Given the description of an element on the screen output the (x, y) to click on. 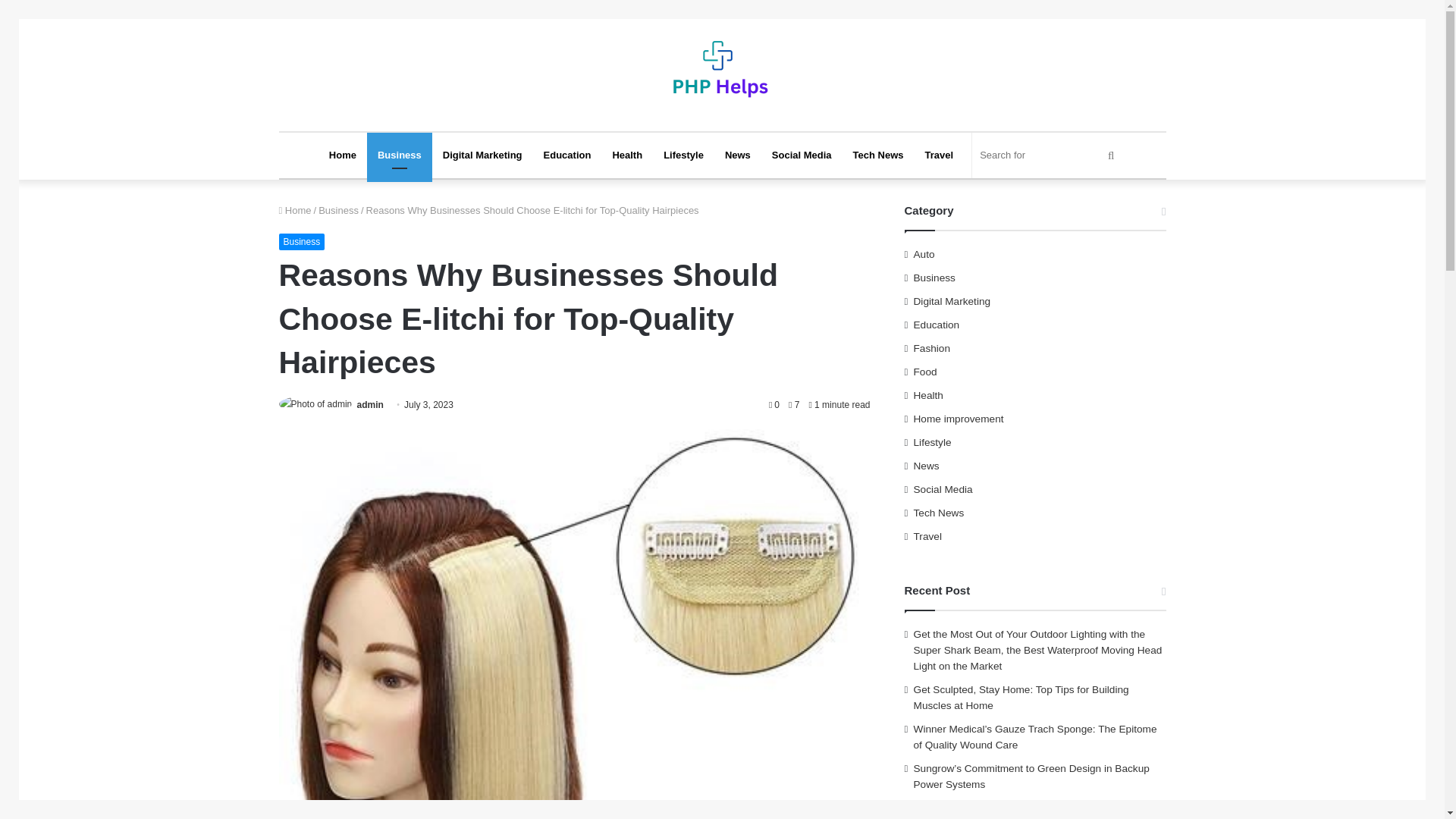
Health (626, 155)
admin (370, 404)
Business (301, 241)
Business (338, 210)
Home (342, 155)
Lifestyle (683, 155)
PHPhelps (721, 74)
Home (295, 210)
Social Media (802, 155)
Digital Marketing (482, 155)
Travel (938, 155)
Education (567, 155)
News (737, 155)
Search for (1048, 155)
admin (370, 404)
